Given the description of an element on the screen output the (x, y) to click on. 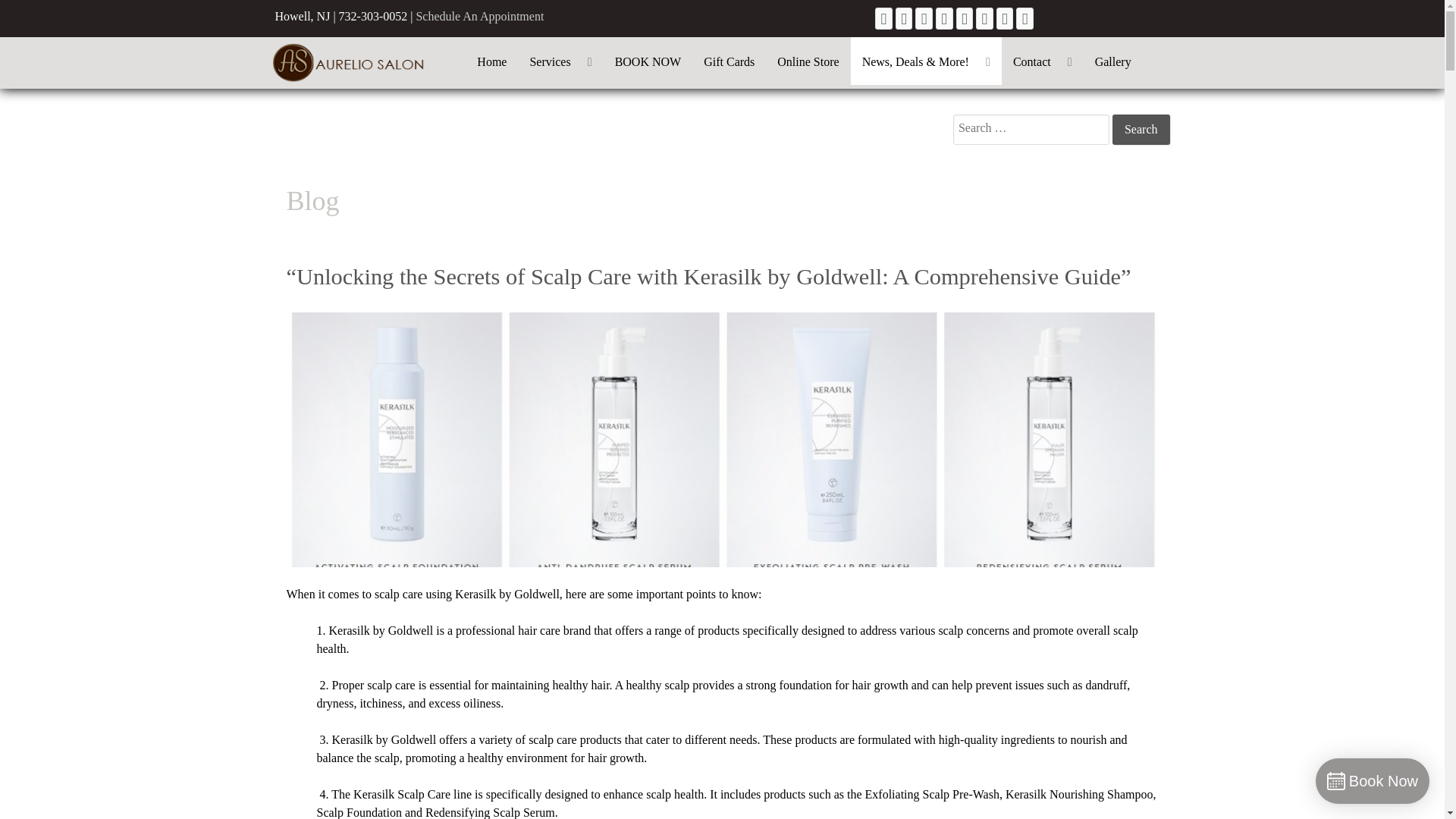
Search (1141, 129)
Gallery (1112, 60)
Contact (1042, 60)
BOOK NOW (648, 60)
Services (560, 60)
Home (491, 60)
Online Store (807, 60)
Search (1141, 129)
Gift Cards (729, 60)
Search (1141, 129)
Search for: (1031, 129)
Schedule An Appointment (478, 15)
